Given the description of an element on the screen output the (x, y) to click on. 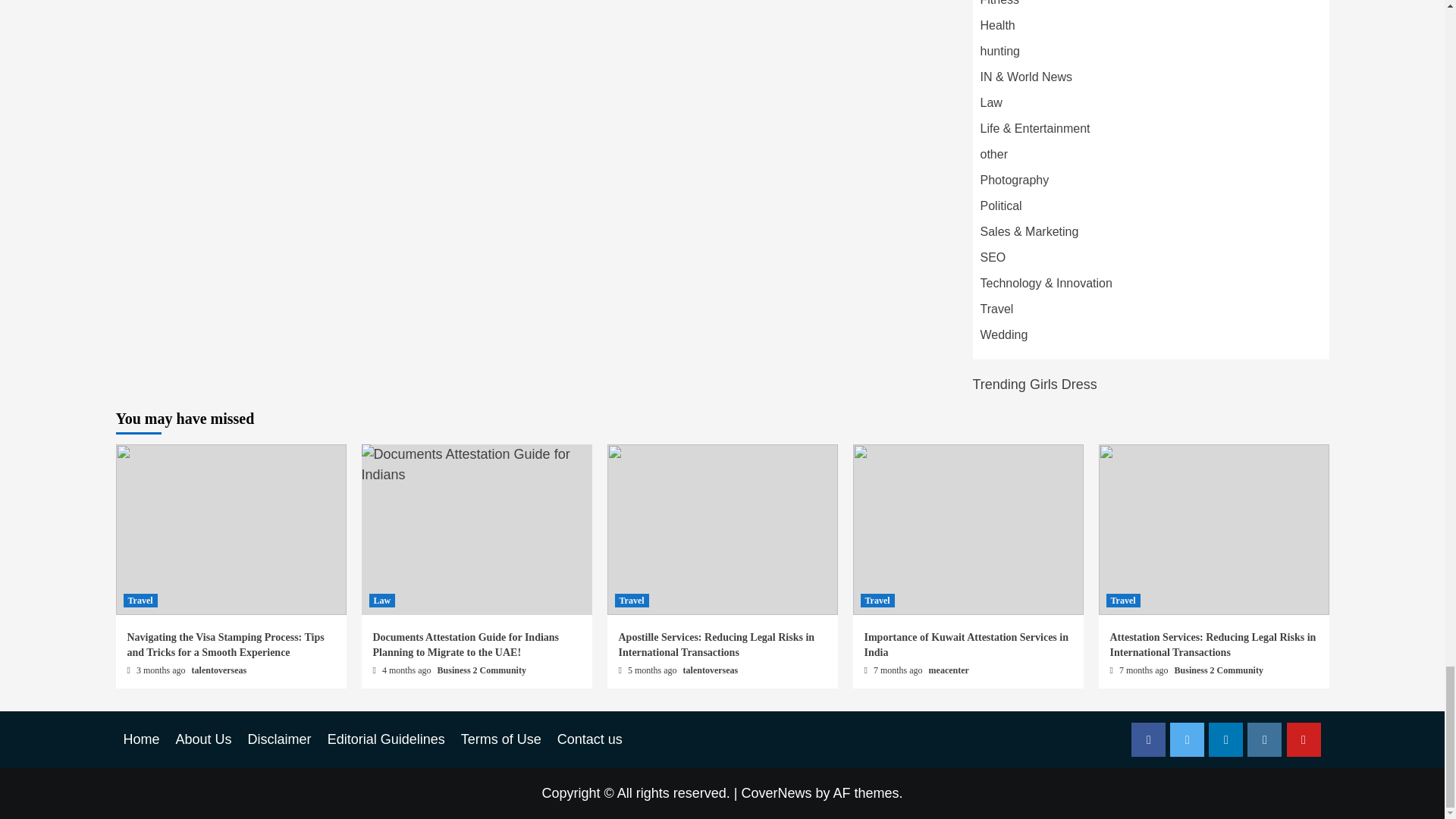
other (993, 154)
hunting (999, 51)
